Given the description of an element on the screen output the (x, y) to click on. 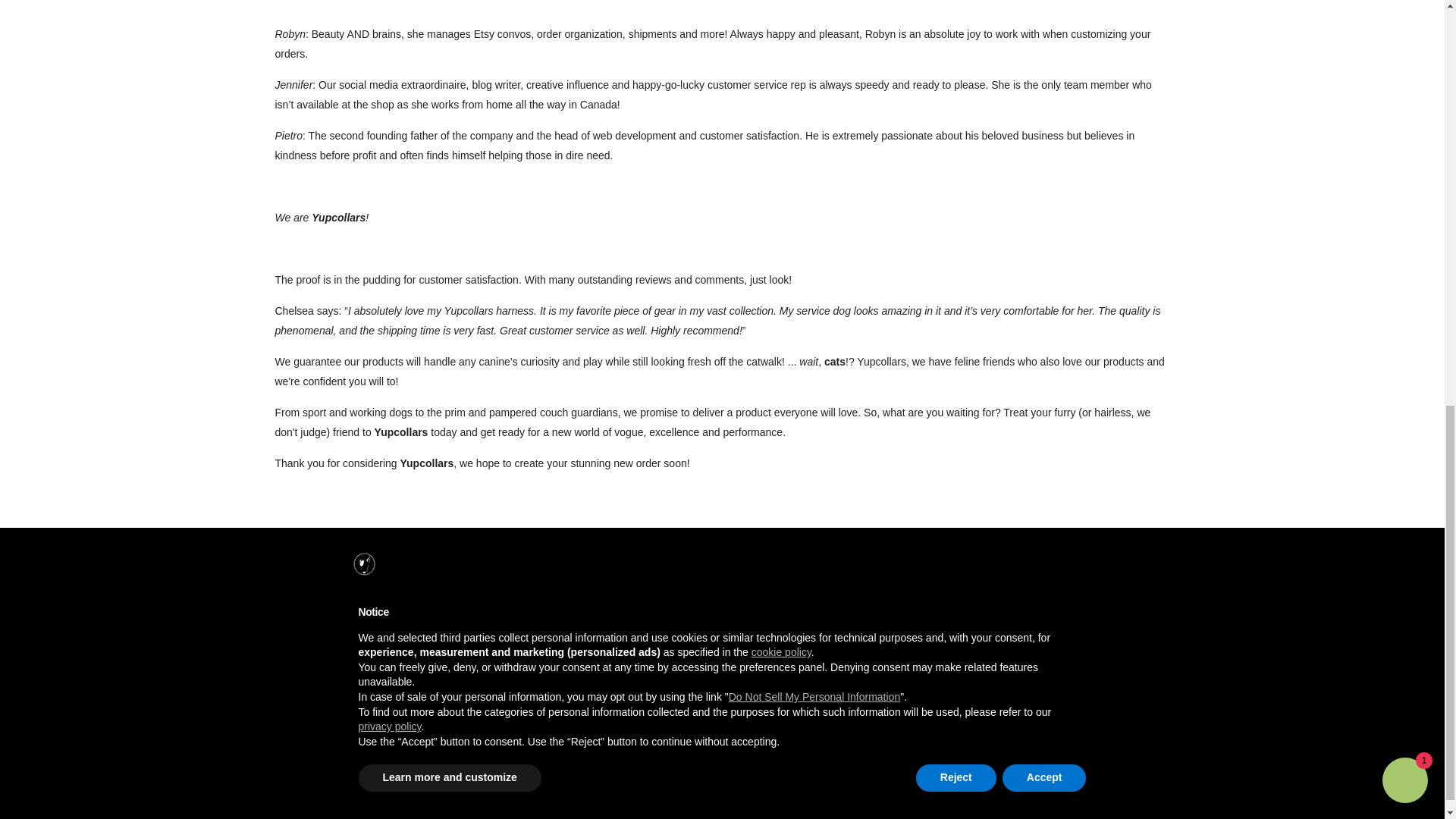
Google Pay (506, 665)
Visa (440, 685)
Yupcollars on Instagram (1149, 802)
American Express (440, 665)
Apple Pay (473, 665)
Yupcollars on Youtube (1168, 802)
Yupcollars on Facebook (1130, 802)
Union Pay (670, 665)
PayPal (605, 665)
Mastercard (571, 665)
Shop Pay (638, 665)
Maestro (539, 665)
